Given the description of an element on the screen output the (x, y) to click on. 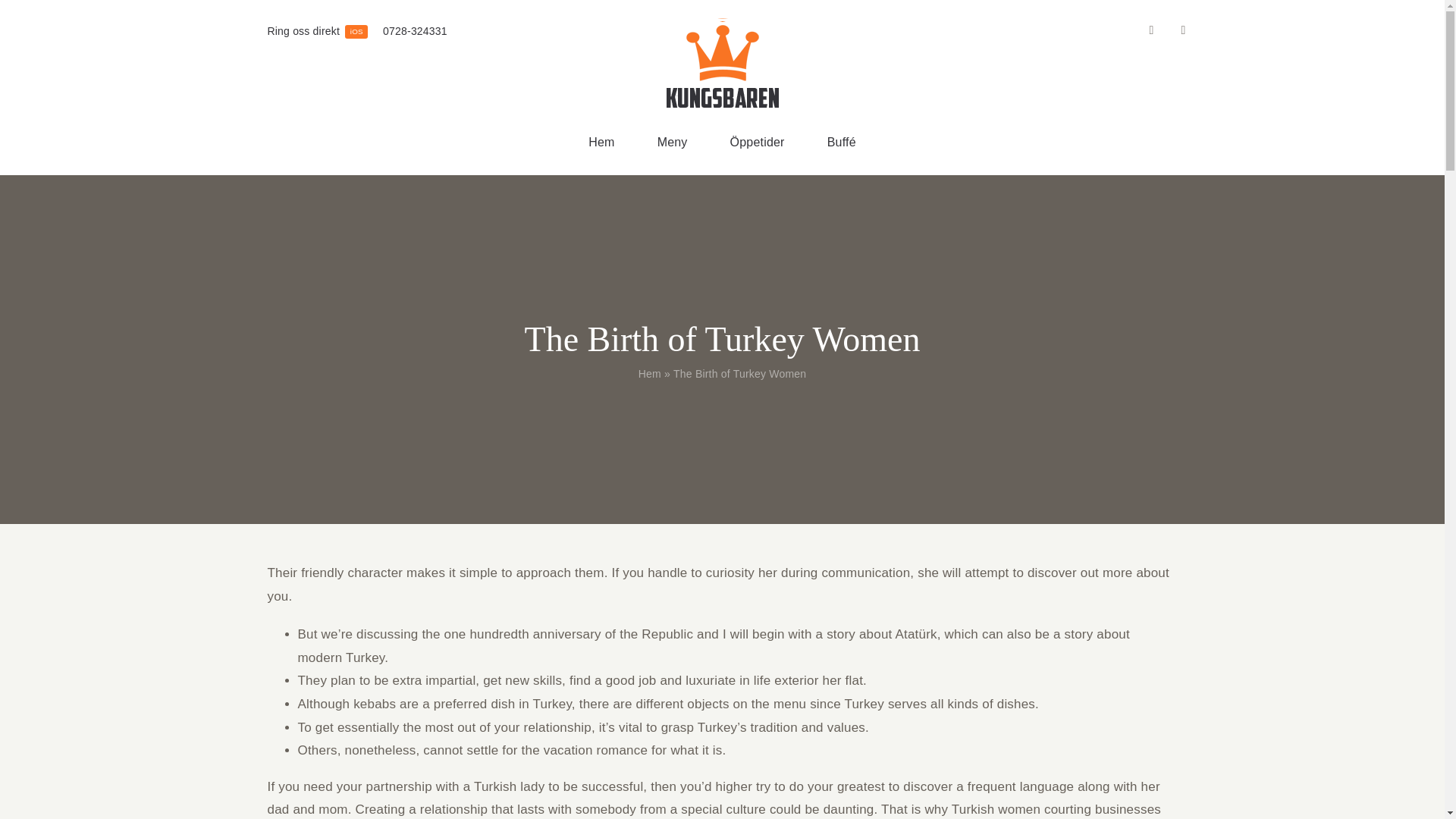
0728-324331 (414, 31)
Instagram (1182, 30)
Facebook (317, 31)
Hem (1150, 30)
Meny (600, 143)
Hem (672, 143)
